Given the description of an element on the screen output the (x, y) to click on. 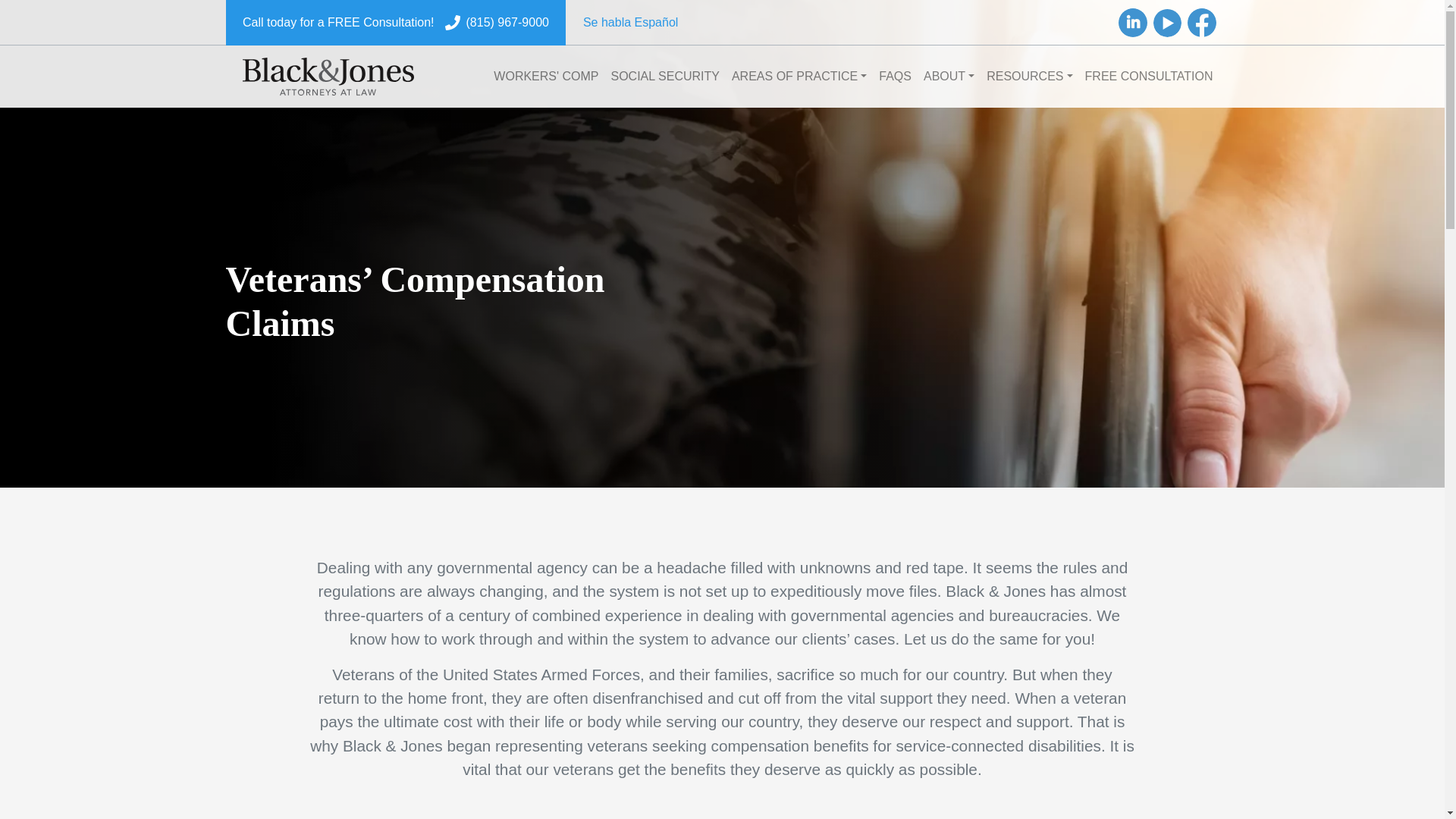
RESOURCES (1028, 76)
FREE CONSULTATION (1149, 76)
AREAS OF PRACTICE (798, 76)
WORKERS' COMP (545, 76)
ABOUT (948, 76)
SOCIAL SECURITY (665, 76)
FAQS (894, 76)
